Given the description of an element on the screen output the (x, y) to click on. 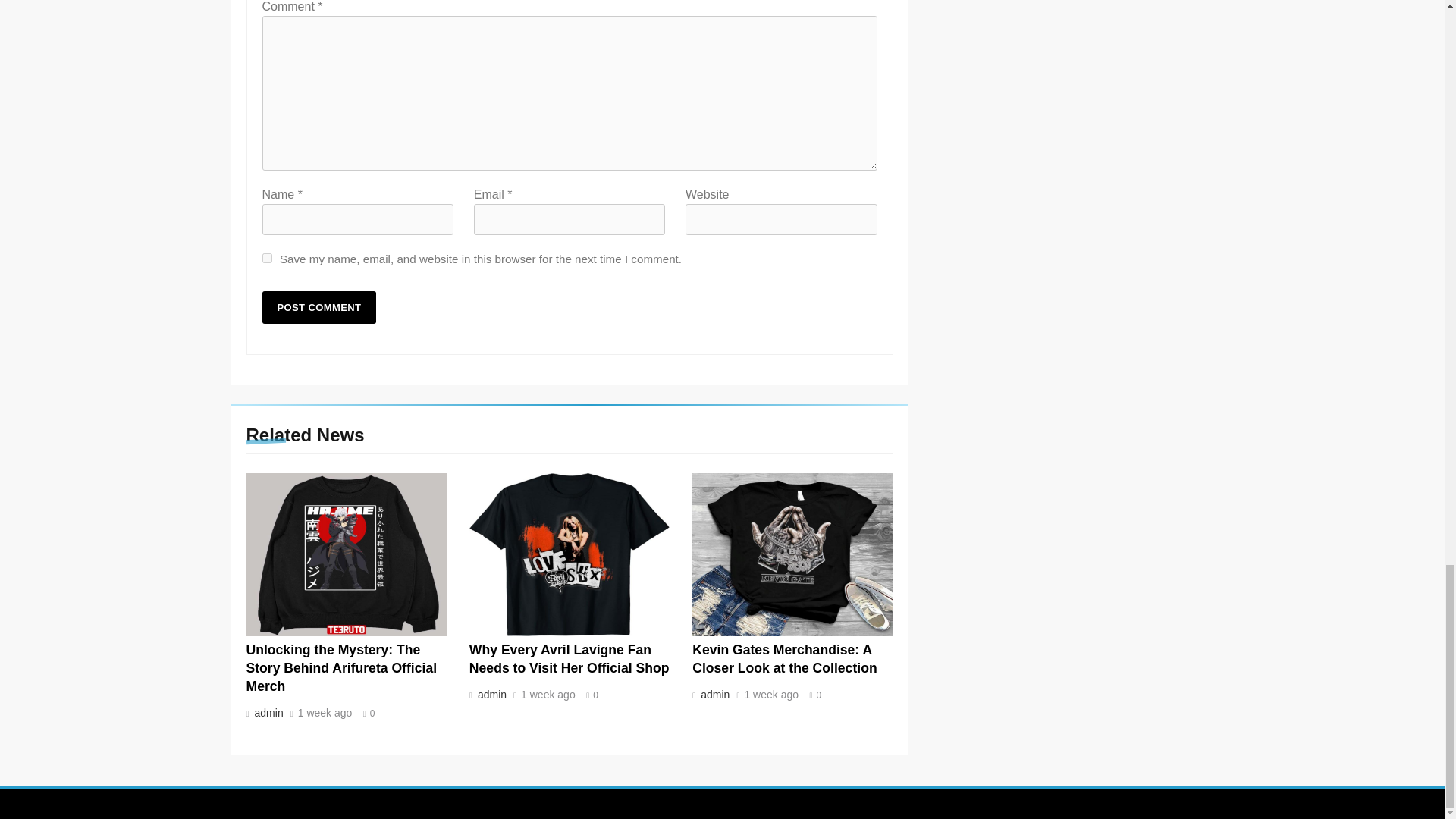
admin (490, 694)
admin (267, 712)
Post Comment (319, 307)
Post Comment (319, 307)
Kevin Gates Merchandise: A Closer Look at the Collection (784, 658)
yes (267, 257)
1 week ago (770, 695)
Why Every Avril Lavigne Fan Needs to Visit Her Official Shop (568, 658)
1 week ago (325, 713)
